Given the description of an element on the screen output the (x, y) to click on. 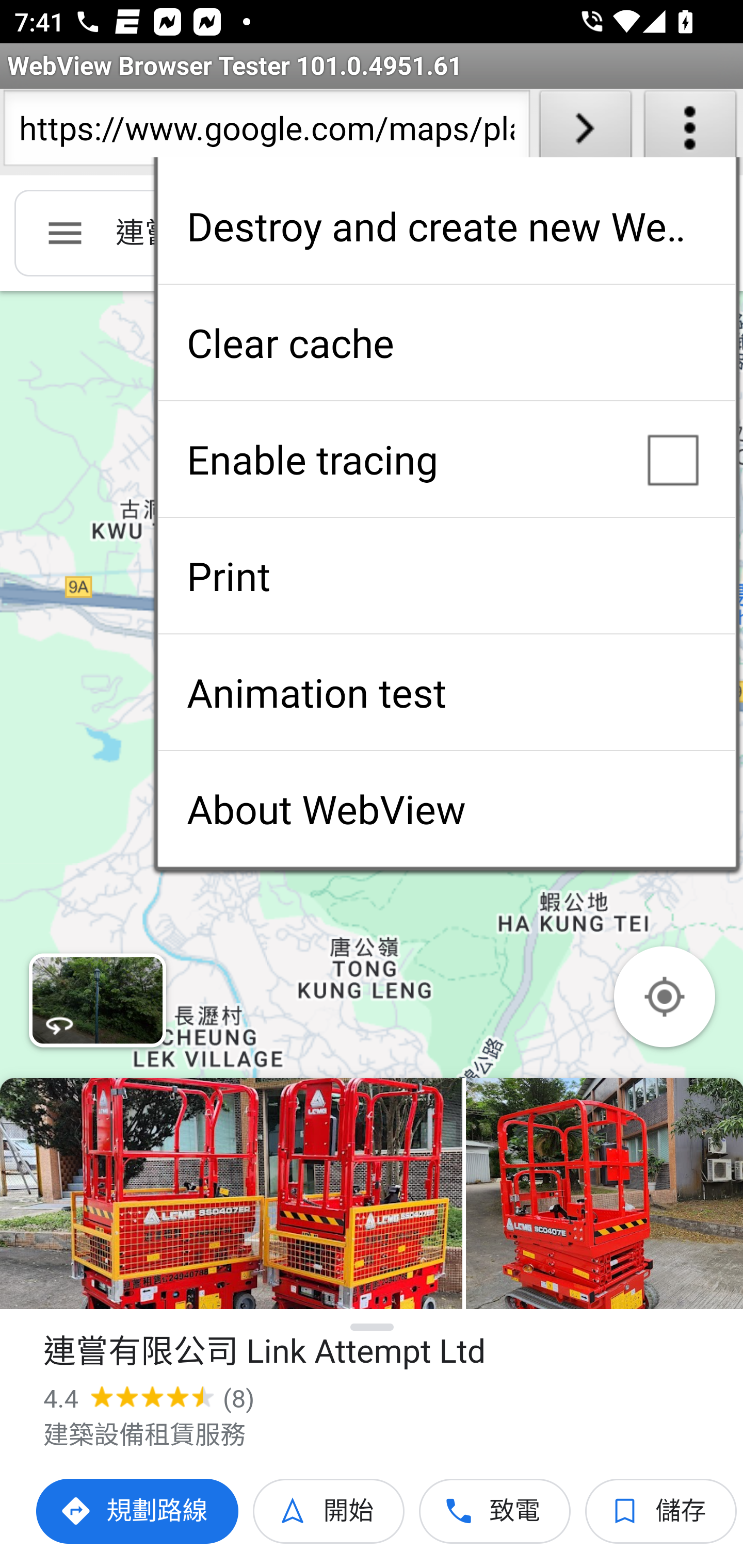
Destroy and create new WebView (446, 225)
Clear cache (446, 342)
Enable tracing (446, 459)
Print (446, 575)
Animation test (446, 692)
About WebView (446, 809)
